Given the description of an element on the screen output the (x, y) to click on. 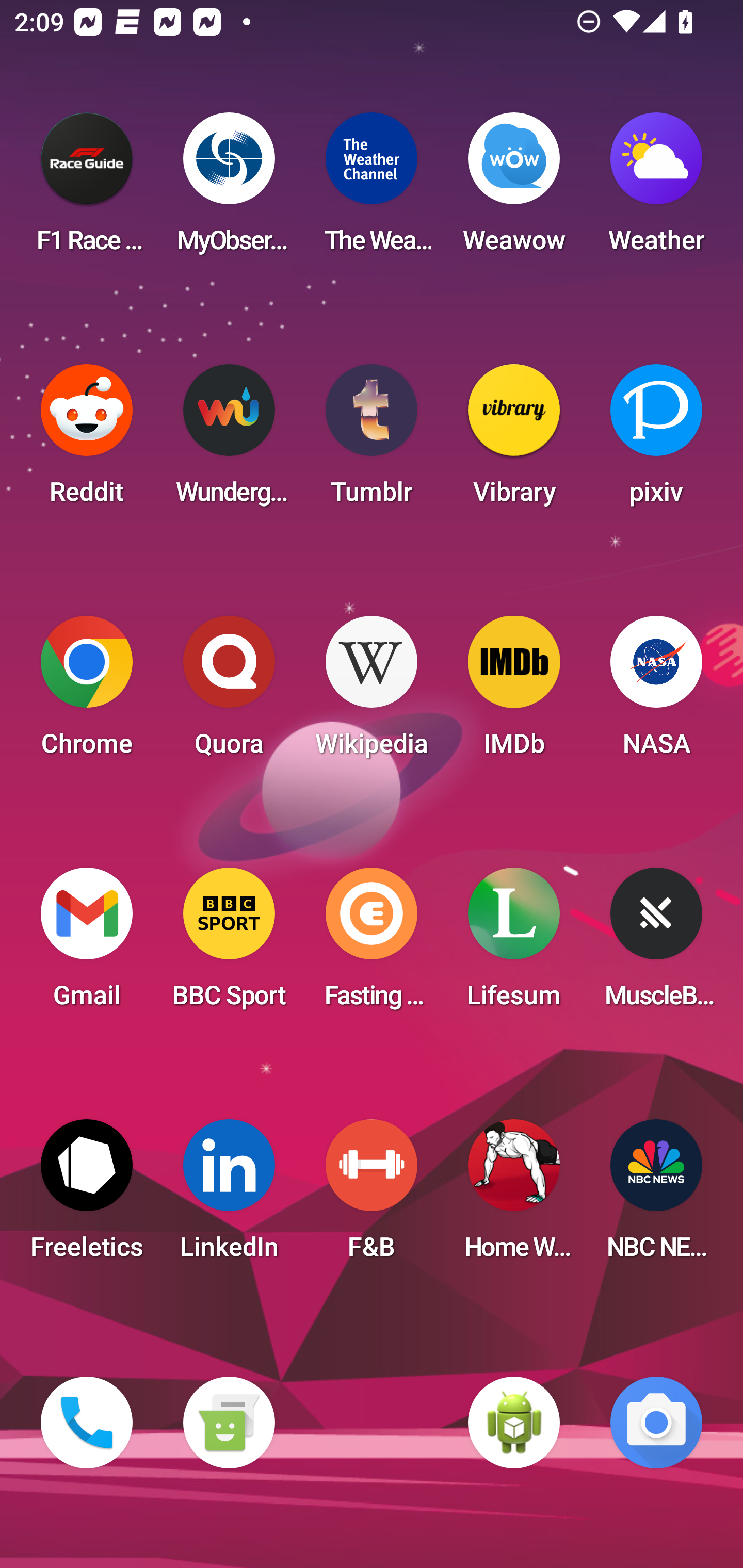
F1 Race Guide (86, 188)
MyObservatory (228, 188)
The Weather Channel (371, 188)
Weawow (513, 188)
Weather (656, 188)
Reddit (86, 440)
Wunderground (228, 440)
Tumblr (371, 440)
Vibrary (513, 440)
pixiv (656, 440)
Chrome (86, 692)
Quora (228, 692)
Wikipedia (371, 692)
IMDb (513, 692)
NASA (656, 692)
Gmail (86, 943)
BBC Sport (228, 943)
Fasting Coach (371, 943)
Lifesum (513, 943)
MuscleBooster (656, 943)
Freeletics (86, 1195)
LinkedIn (228, 1195)
F&B (371, 1195)
Home Workout (513, 1195)
NBC NEWS (656, 1195)
Phone (86, 1422)
Messaging (228, 1422)
WebView Browser Tester (513, 1422)
Camera (656, 1422)
